Given the description of an element on the screen output the (x, y) to click on. 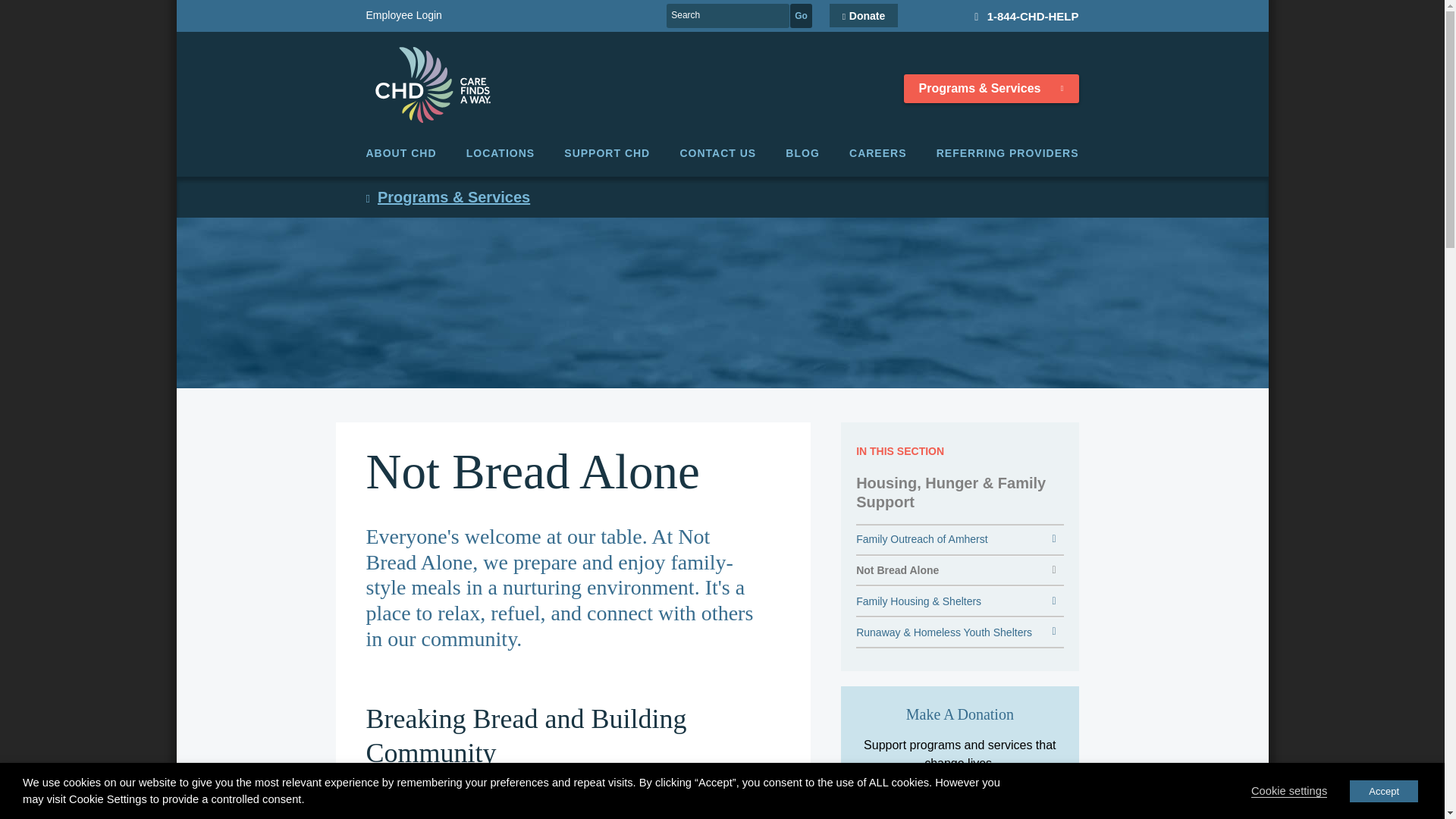
BLOG (802, 153)
SUPPORT CHD (607, 153)
Search for: (727, 15)
LOCATIONS (499, 153)
Go (801, 15)
CONTACT US (716, 153)
REFERRING PROVIDERS (1007, 153)
Donate (863, 15)
Go (801, 15)
1-844-CHD-HELP (1019, 15)
